Given the description of an element on the screen output the (x, y) to click on. 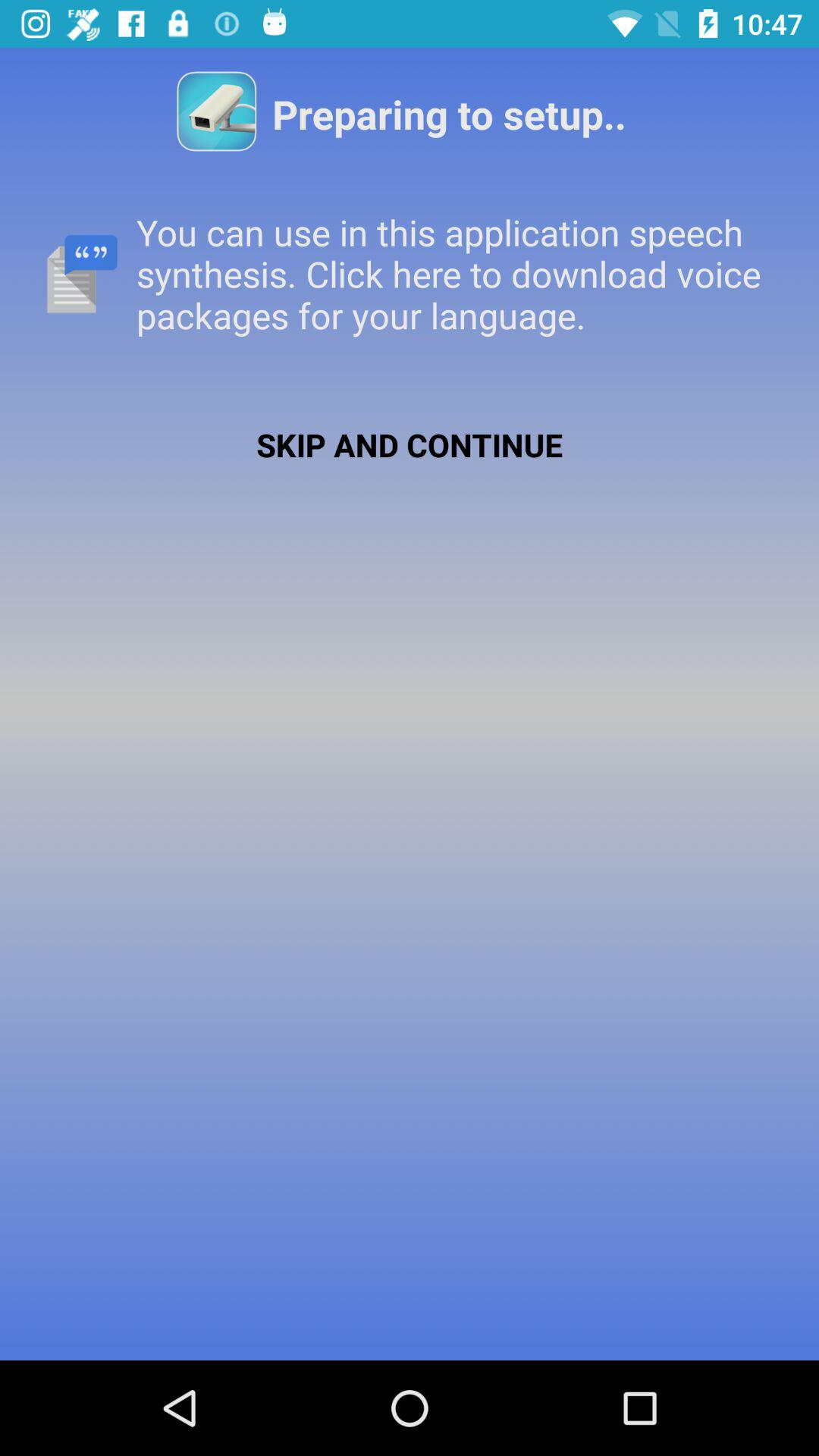
select item above skip and continue (409, 273)
